Given the description of an element on the screen output the (x, y) to click on. 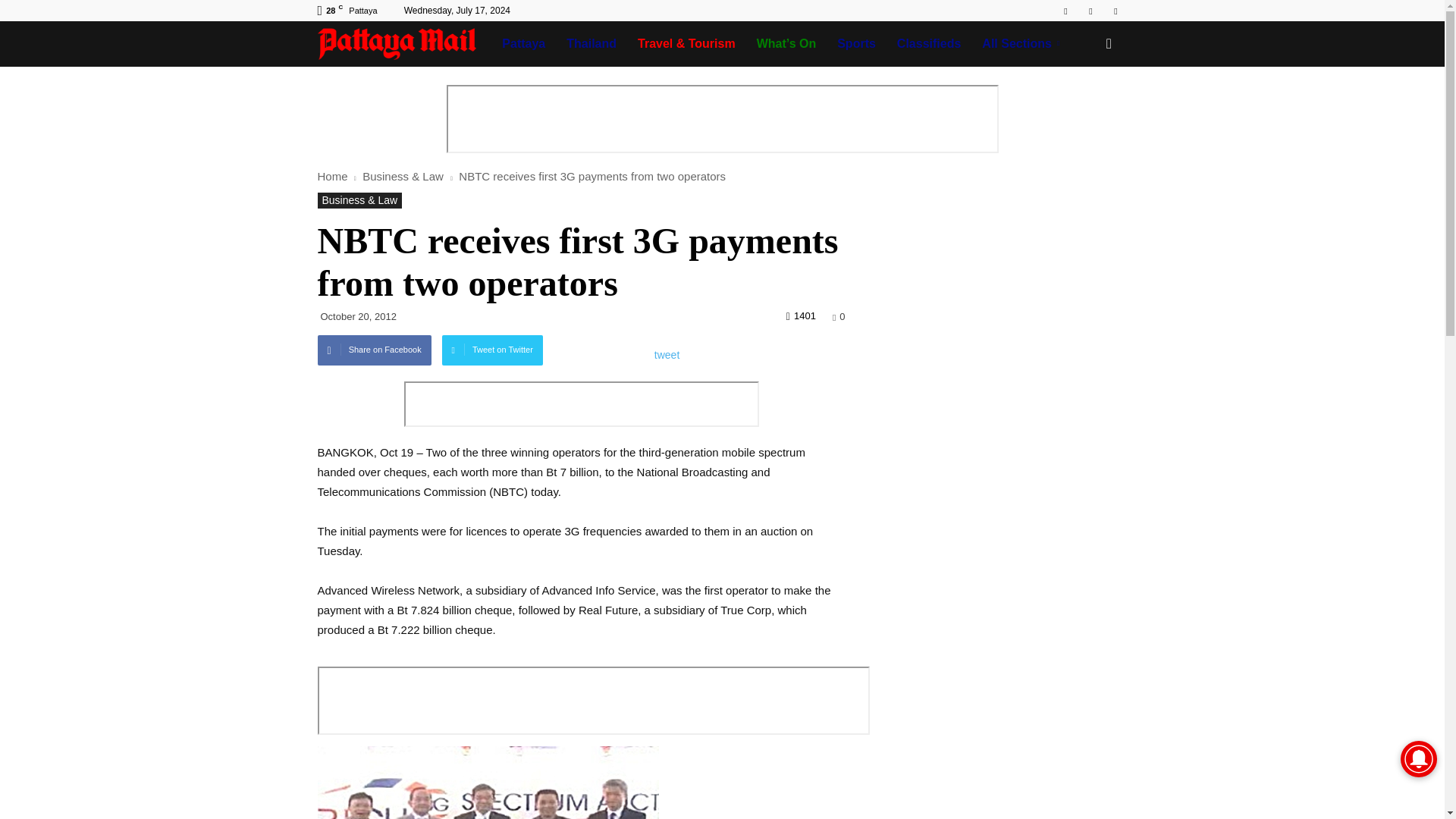
Pattaya Mail (404, 44)
Linkedin (1090, 10)
Pattaya (524, 43)
Facebook (1065, 10)
Twitter (1114, 10)
Thailand (591, 43)
Sports (856, 43)
All Sections (1023, 43)
Classifieds (928, 43)
